Given the description of an element on the screen output the (x, y) to click on. 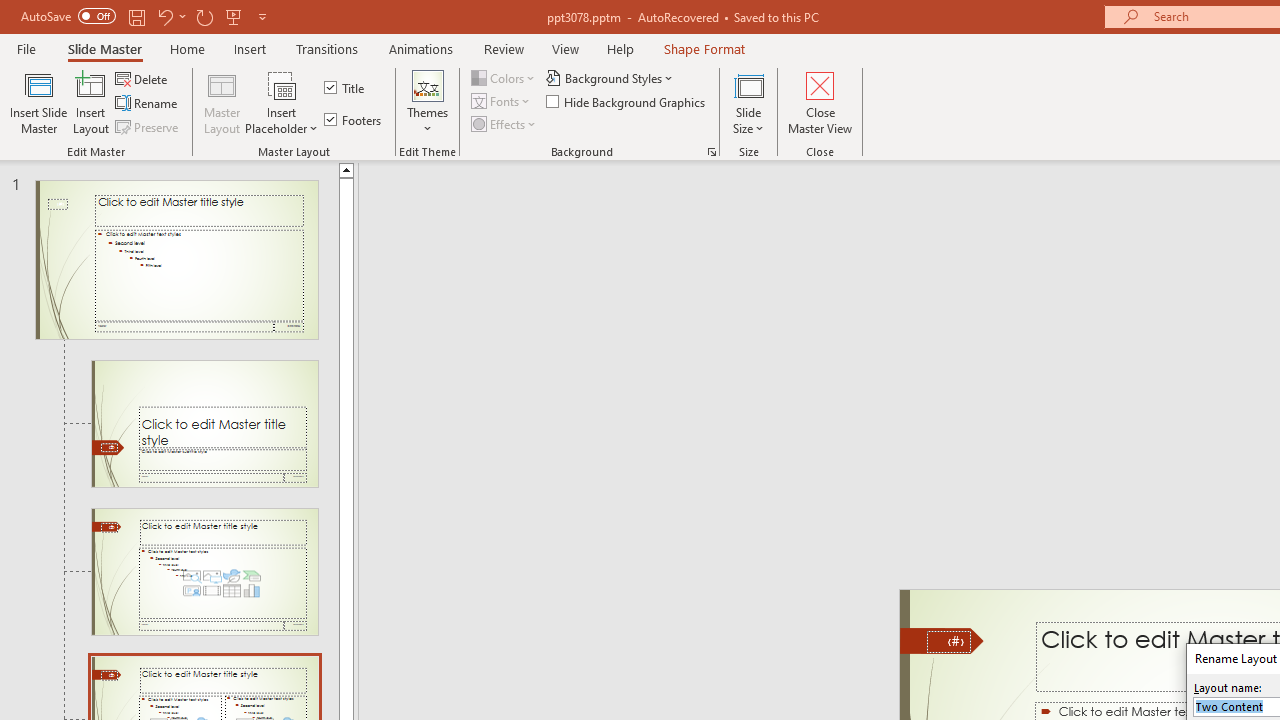
Insert Slide Master (38, 102)
Format Background... (711, 151)
Slide Title Slide Layout: used by slide(s) 1 (204, 423)
Slide Number (948, 641)
Close Master View (820, 102)
Footers (354, 119)
